Given the description of an element on the screen output the (x, y) to click on. 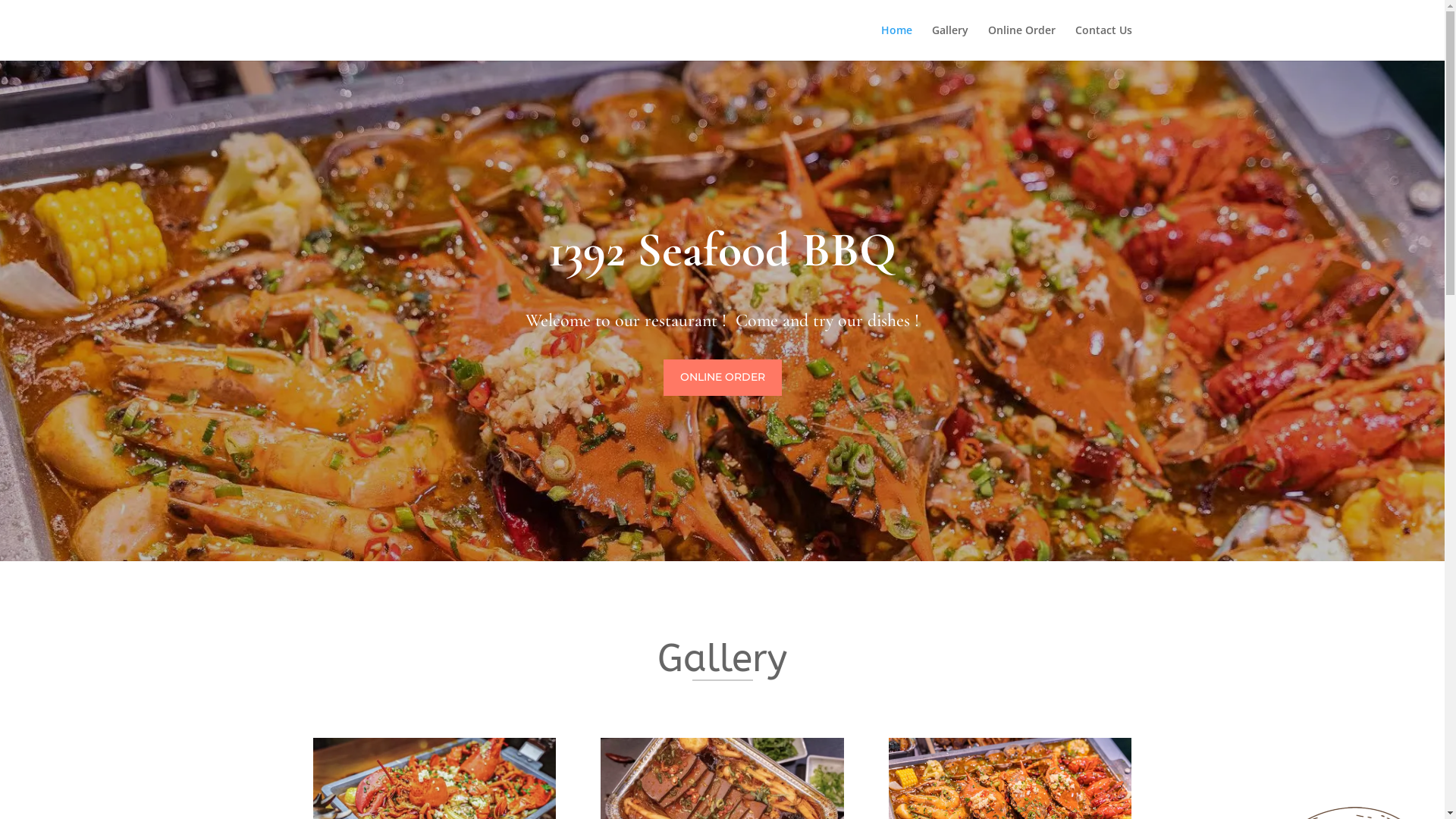
Online Order Element type: text (1020, 42)
Contact Us Element type: text (1103, 42)
Home Element type: text (896, 42)
ONLINE ORDER Element type: text (721, 377)
Gallery Element type: text (949, 42)
